Given the description of an element on the screen output the (x, y) to click on. 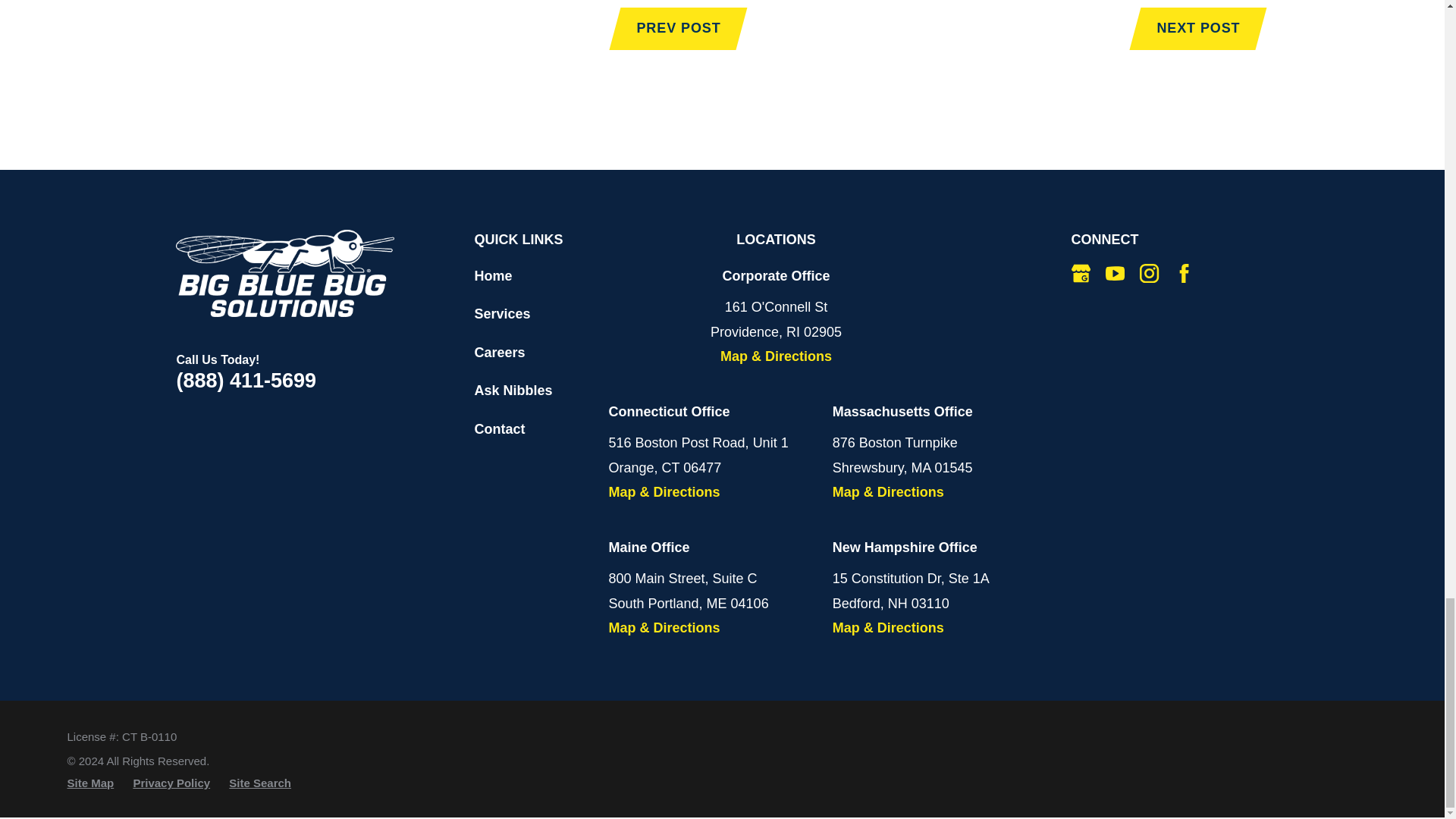
Instagram (1149, 272)
YouTube (1114, 272)
Facebook (1183, 272)
Home (285, 273)
Google Business Profile (1080, 272)
